Given the description of an element on the screen output the (x, y) to click on. 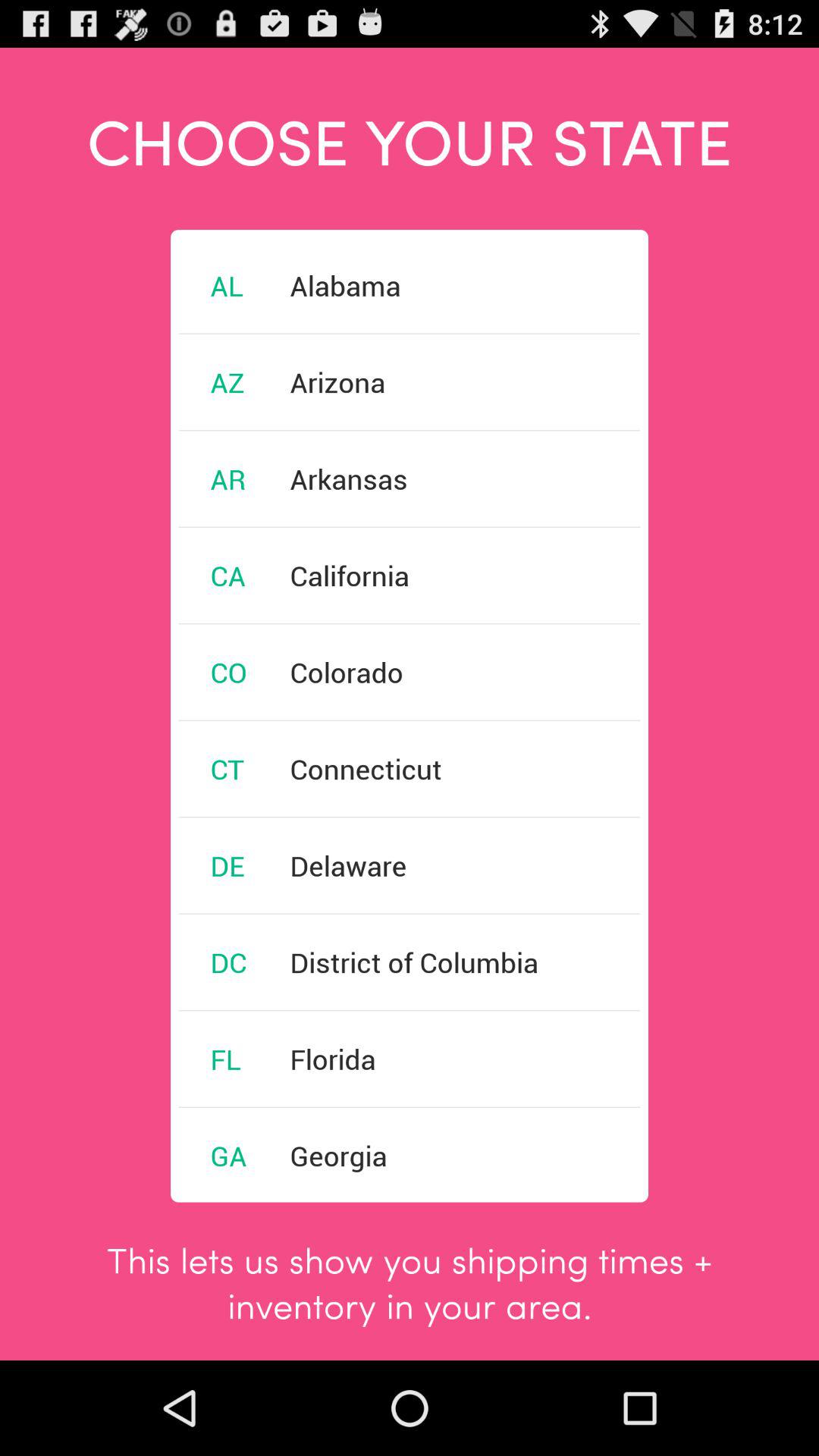
launch item above ct (228, 672)
